Given the description of an element on the screen output the (x, y) to click on. 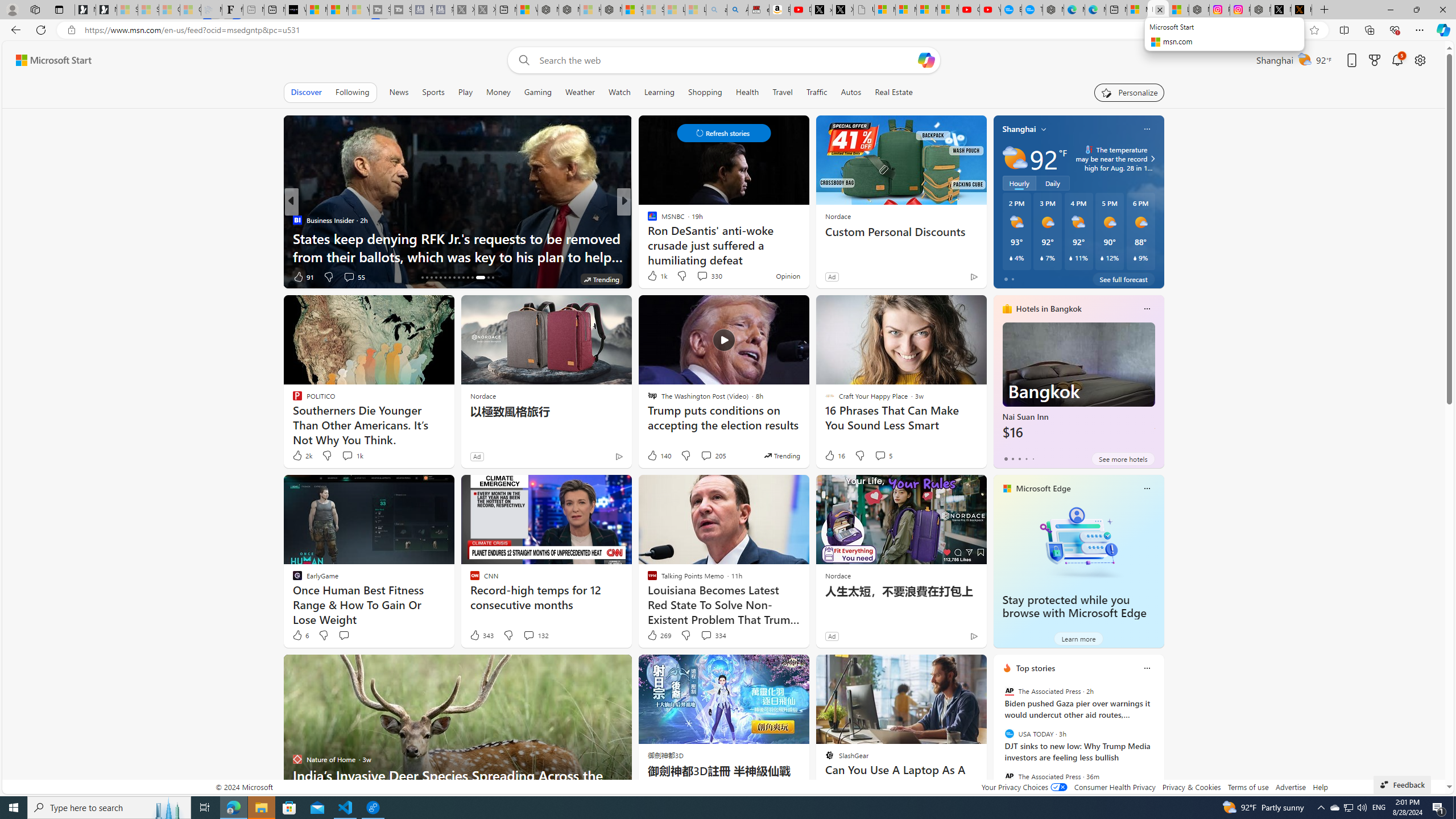
Open settings (1420, 60)
tab-3 (1025, 458)
1k Like (656, 275)
amazon - Search - Sleeping (716, 9)
Day 1: Arriving in Yemen (surreal to be here) - YouTube (800, 9)
Nordace - Nordace has arrived Hong Kong (1053, 9)
Consumer Health Privacy (1115, 786)
tab-1 (1012, 458)
Class: weather-arrow-glyph (1152, 158)
Microsoft account | Microsoft Account Privacy Settings (1137, 9)
